Given the description of an element on the screen output the (x, y) to click on. 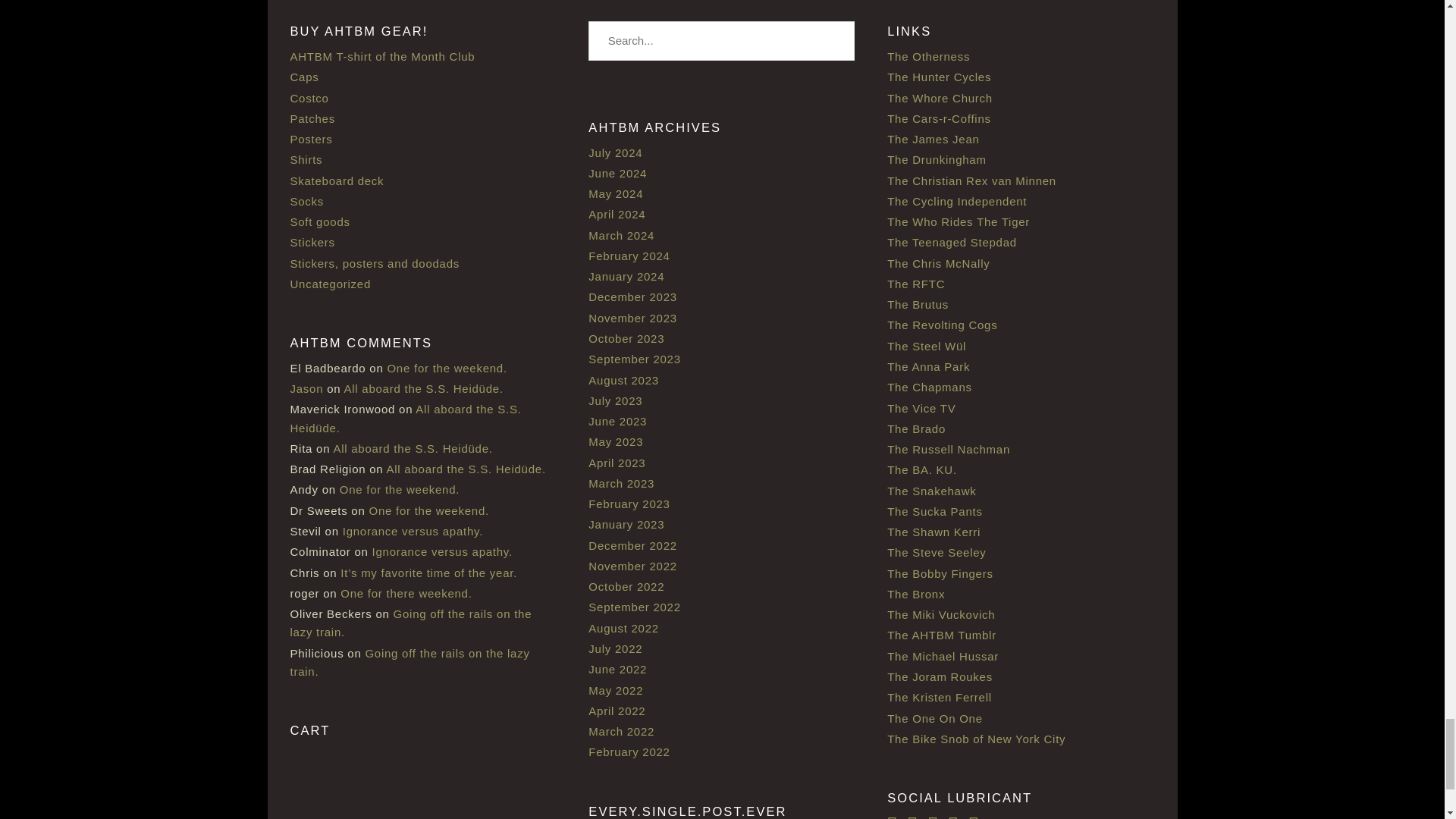
Search (836, 41)
Search (836, 41)
